Given the description of an element on the screen output the (x, y) to click on. 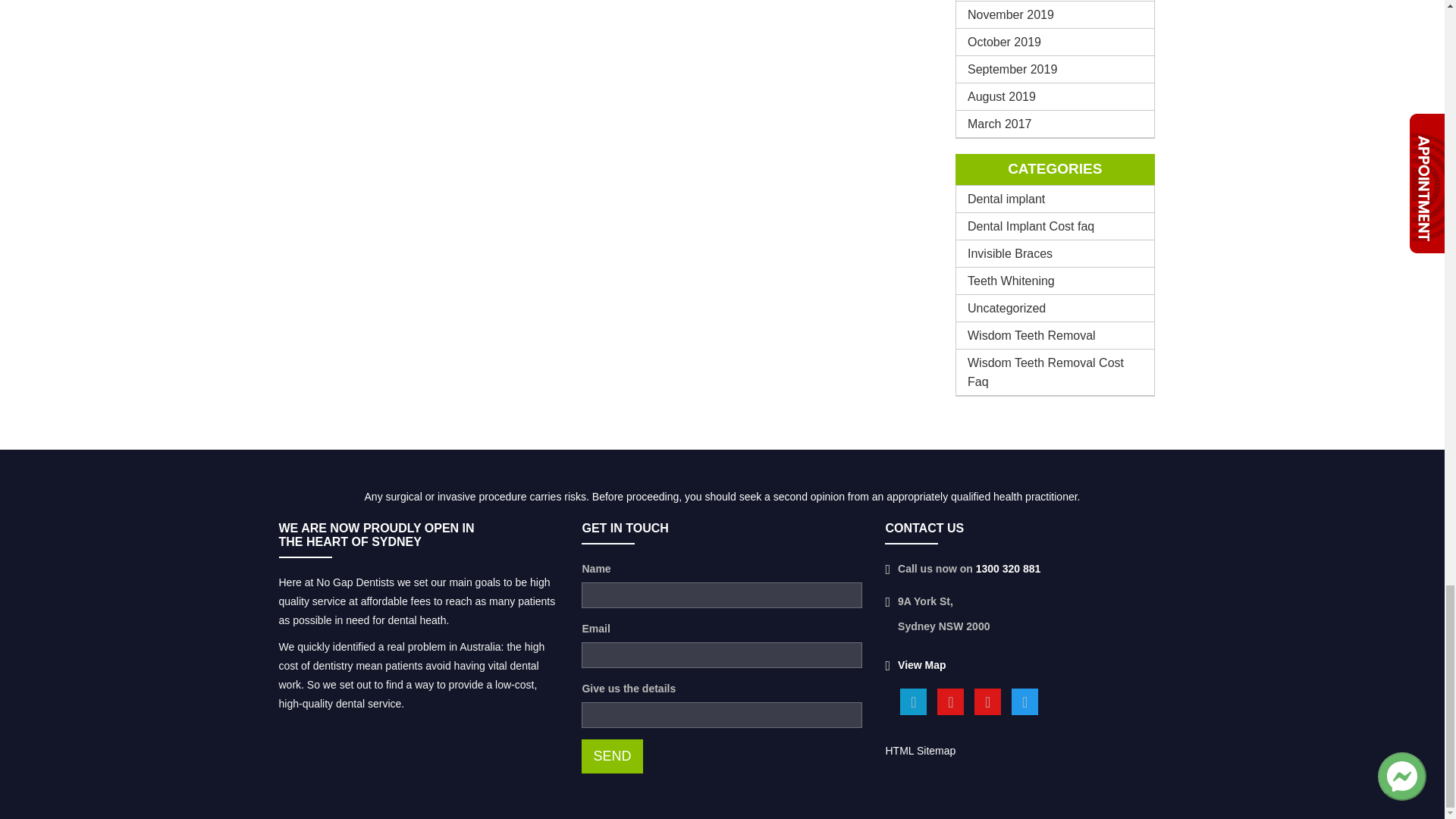
SEND (611, 756)
